Given the description of an element on the screen output the (x, y) to click on. 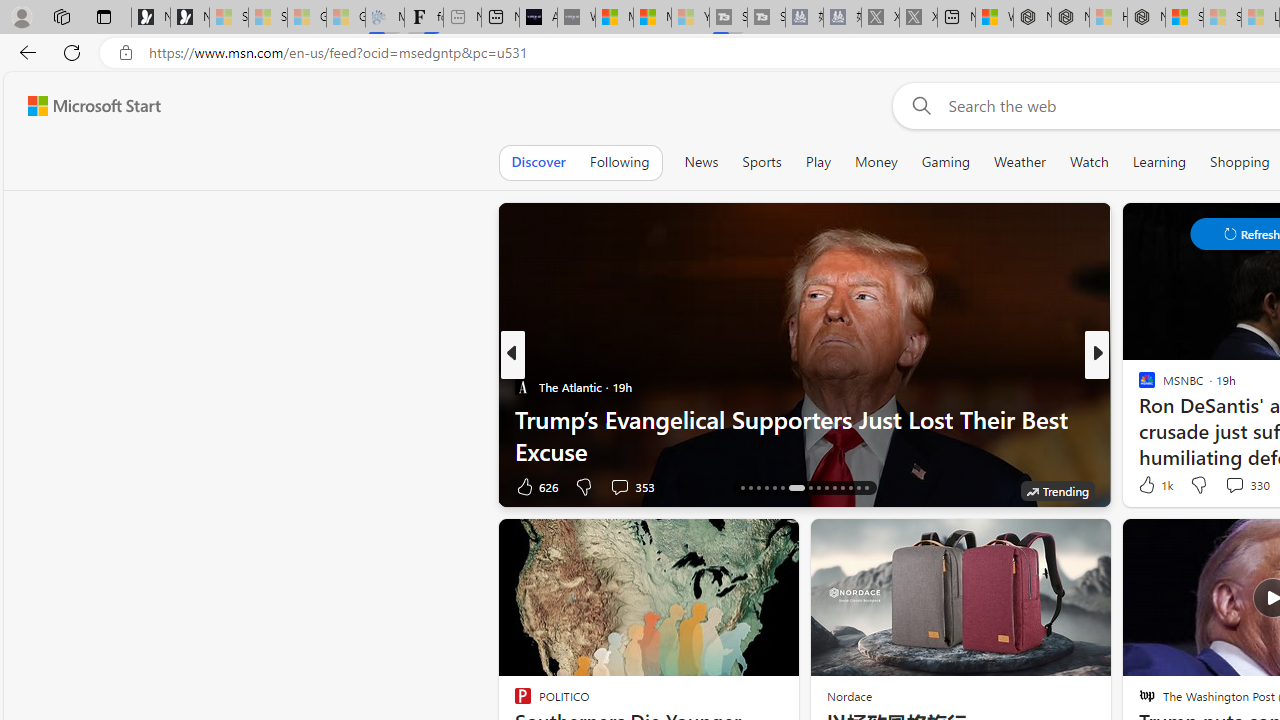
AutomationID: tab-16 (742, 487)
Wildlife - MSN (993, 17)
AutomationID: tab-24 (818, 487)
View comments 96 Comment (1244, 486)
View comments 39 Comment (11, 485)
626 Like (535, 486)
LGBTQ Nation (1138, 386)
New tab - Sleeping (462, 17)
AutomationID: tab-21 (782, 487)
AutomationID: tab-28 (850, 487)
8 Like (1145, 486)
Hide this story (738, 542)
